Given the description of an element on the screen output the (x, y) to click on. 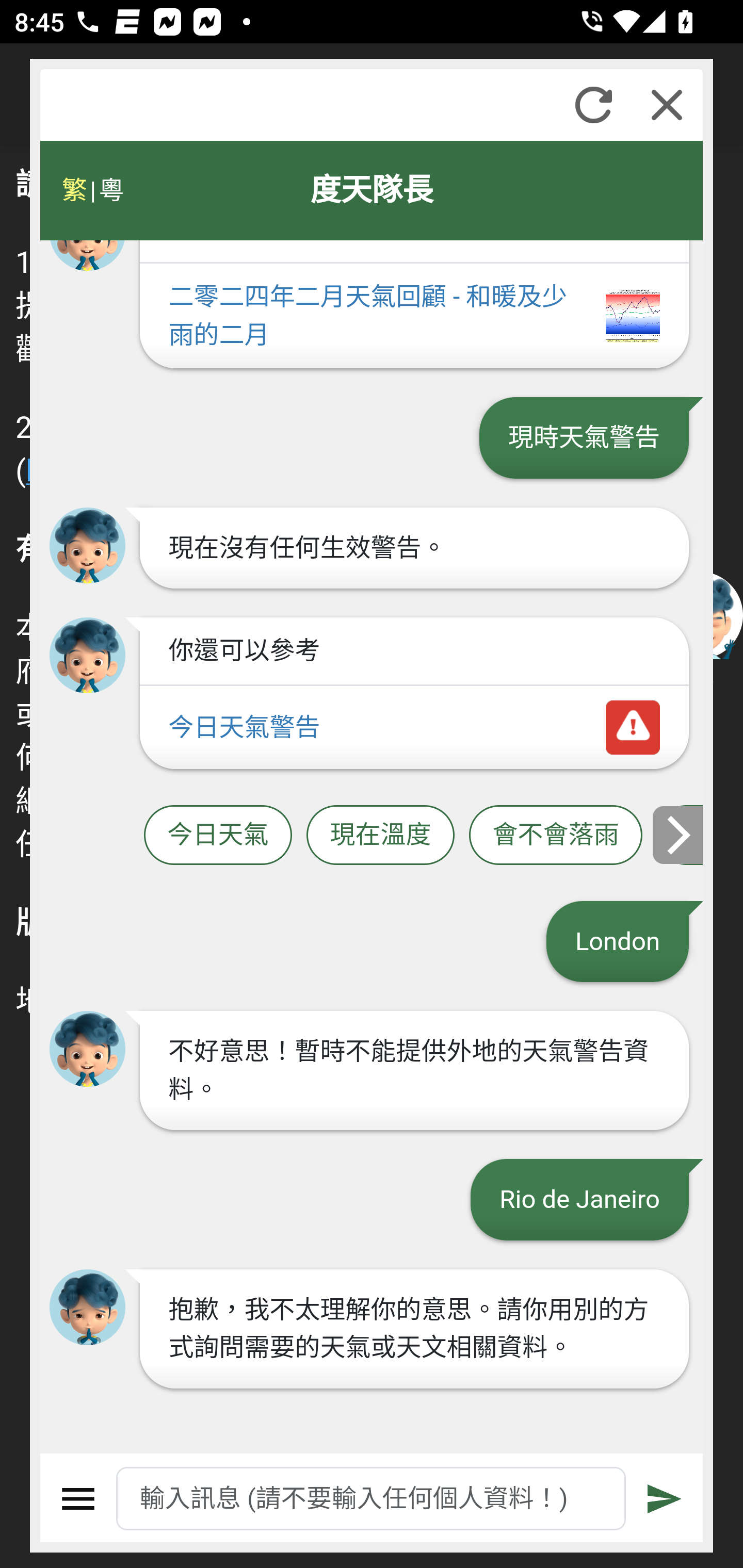
重新整理 (593, 104)
關閉 (666, 104)
繁 (73, 190)
粵 (110, 190)
二零二四年二月天氣回顧 - 和暖及少雨的二月 (413, 316)
今日天氣警告 (413, 727)
今日天氣 (217, 835)
現在溫度 (380, 835)
會不會落雨 (555, 835)
下一張 (678, 833)
選單 (78, 1498)
遞交 (665, 1498)
